Given the description of an element on the screen output the (x, y) to click on. 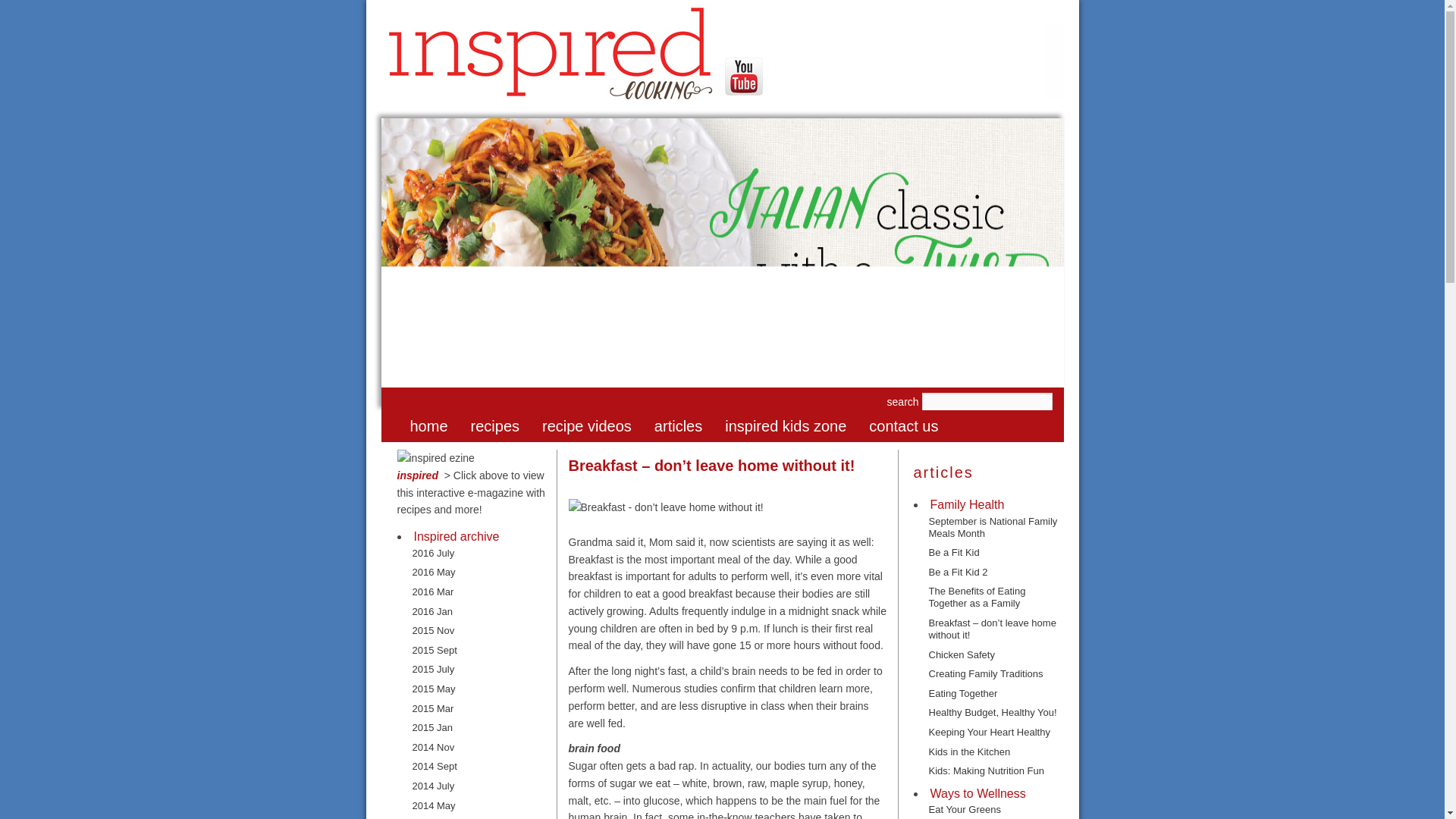
2015 July (433, 669)
Family Health (967, 504)
Skip to primary content (482, 426)
Inspired magazine (472, 485)
2015 Nov (433, 630)
2016 July (433, 552)
Skip to primary content (482, 426)
2016 Mar (433, 591)
inspired kids zone (786, 426)
articles (678, 426)
2014 Sept (434, 765)
September is National Family Meals Month (992, 527)
2015 May (433, 688)
contact us (904, 426)
Skip to secondary content (491, 426)
